Given the description of an element on the screen output the (x, y) to click on. 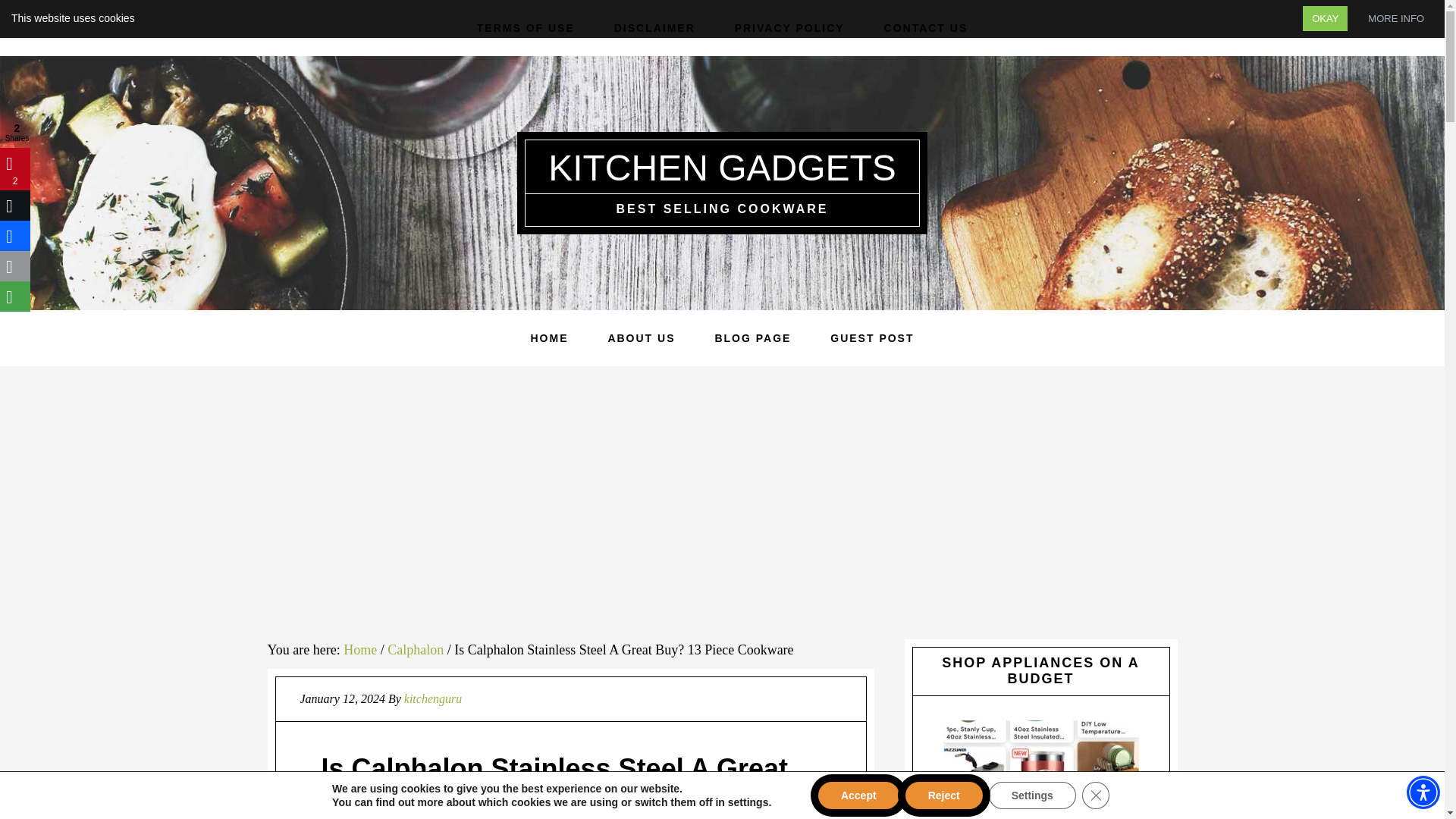
Accessibility Menu (1422, 792)
HOME (549, 338)
GUEST POST (871, 338)
kitchenguru (432, 698)
KITCHEN GADGETS (722, 168)
Calphalon (415, 649)
DISCLAIMER (654, 28)
ABOUT US (641, 338)
Home (360, 649)
CONTACT US (926, 28)
PRIVACY POLICY (789, 28)
BLOG PAGE (752, 338)
TERMS OF USE (525, 28)
